Given the description of an element on the screen output the (x, y) to click on. 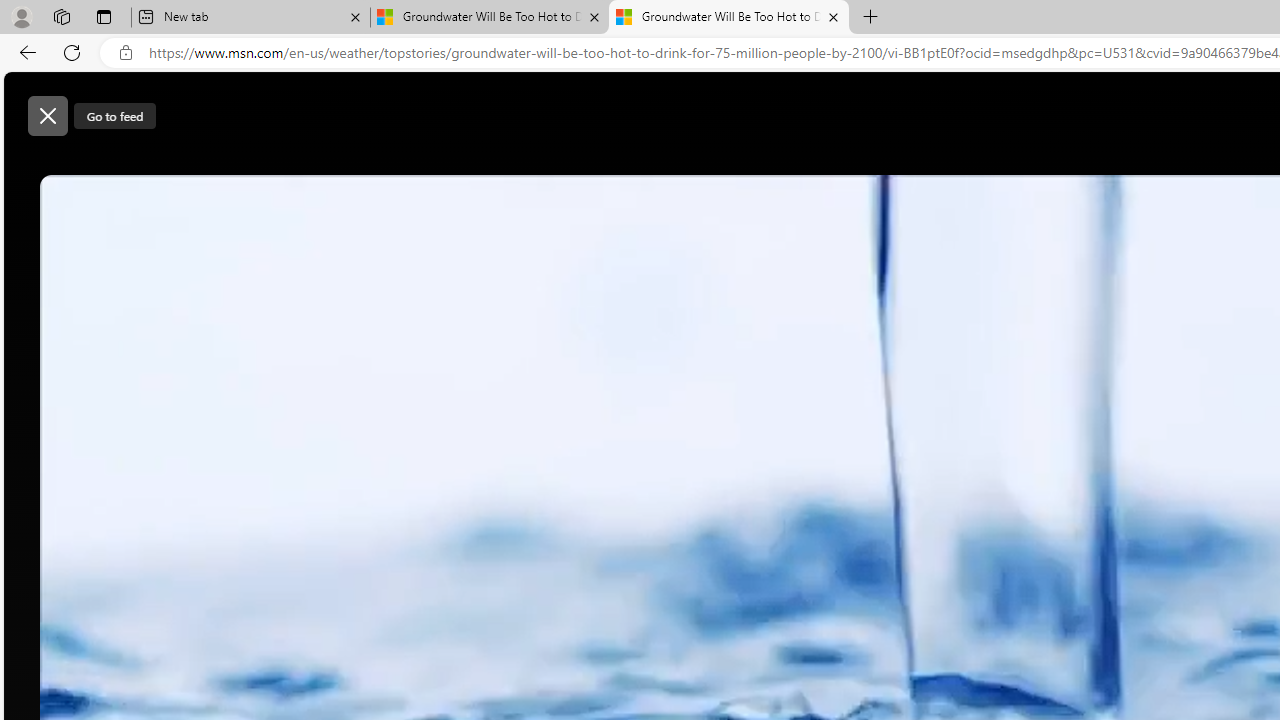
Go to feed (115, 115)
Following (656, 162)
Discover (575, 162)
Open navigation menu (513, 162)
Watch (734, 162)
Skip to content (86, 105)
Following (658, 162)
